Given the description of an element on the screen output the (x, y) to click on. 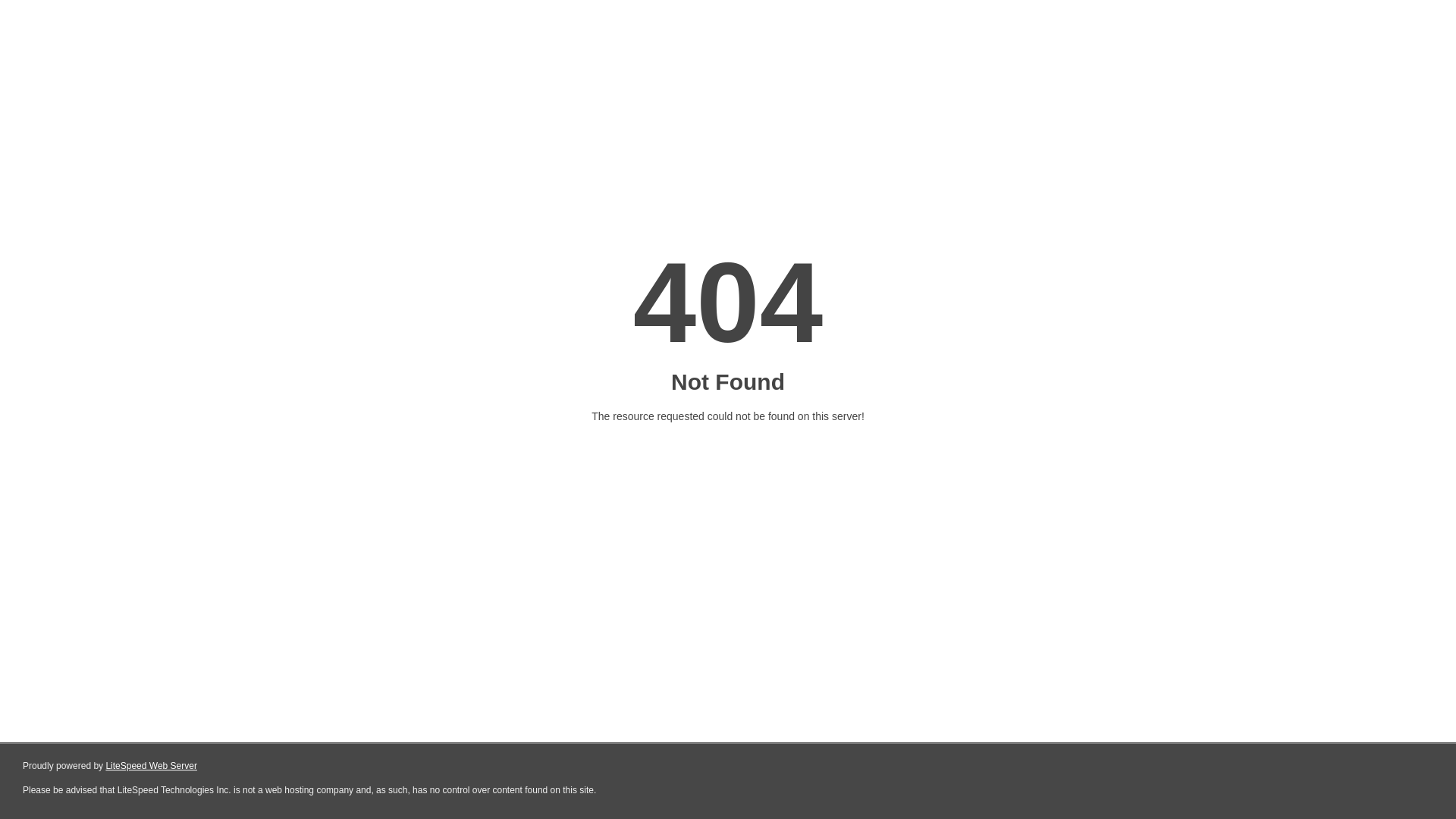
LiteSpeed Web Server Element type: text (151, 765)
